Given the description of an element on the screen output the (x, y) to click on. 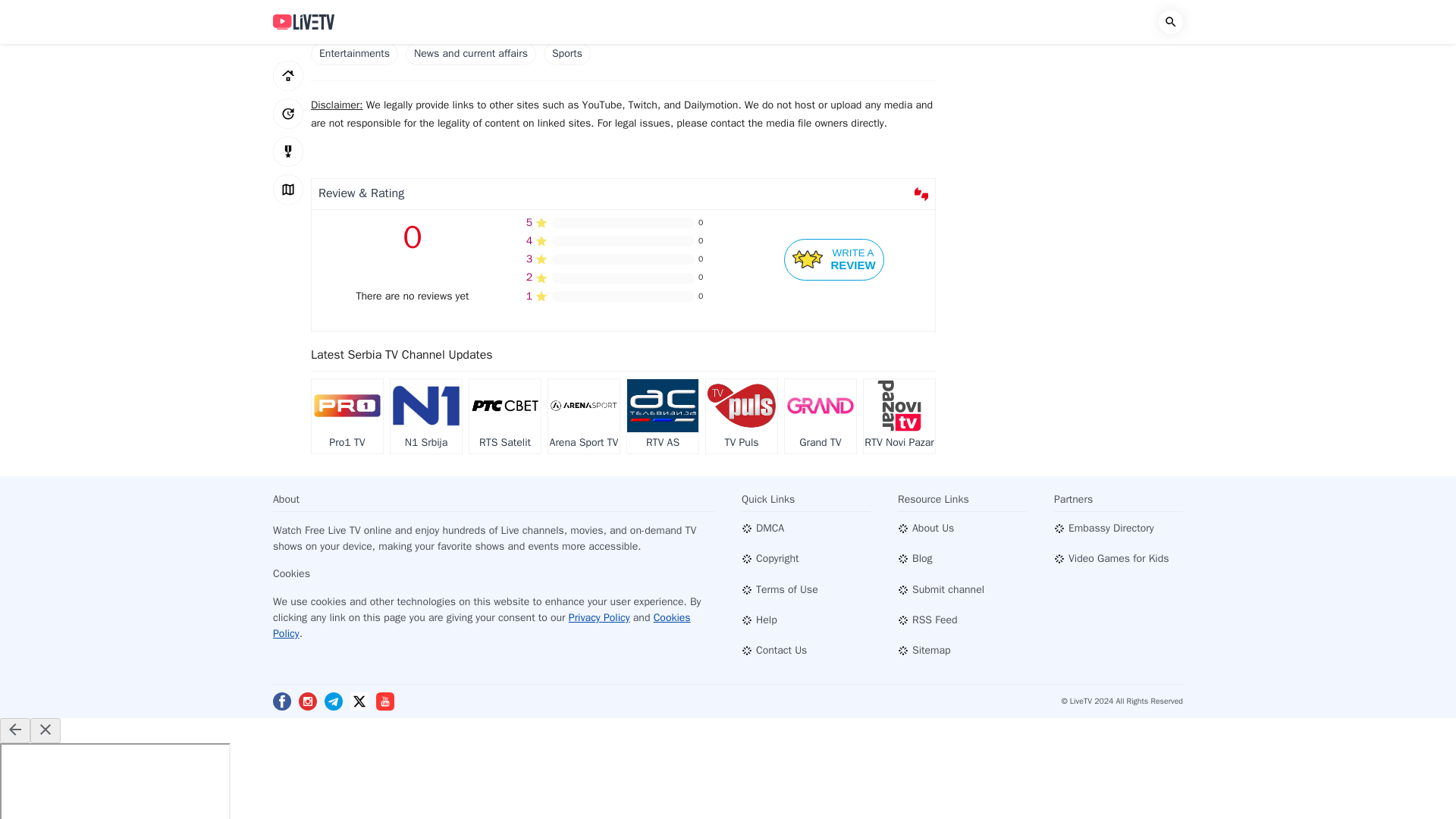
RTV Novi Pazar (898, 416)
Sports (567, 53)
Pro1 TV (346, 416)
RTS Satelit (504, 416)
Entertainments (354, 53)
News and current affairs (470, 53)
Arena Sport TV (833, 259)
Grand TV (584, 416)
TV Puls (820, 416)
